Given the description of an element on the screen output the (x, y) to click on. 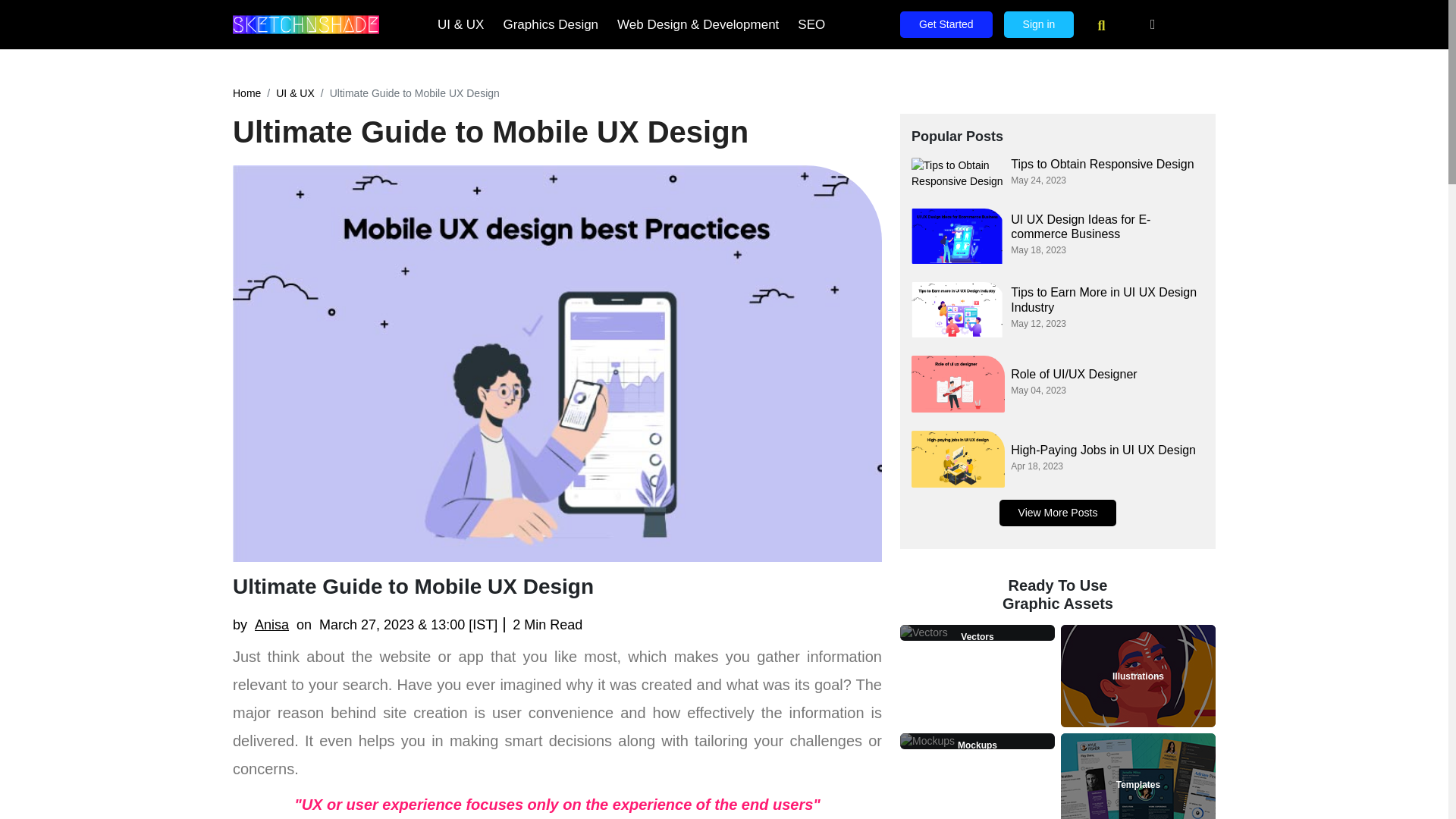
IIlustrations (1138, 676)
Tips to Earn More in UI UX Design Industry (957, 309)
UI UX Design Ideas for E-commerce Business (1107, 226)
UI UX Design Ideas for E-commerce Business (957, 235)
Mockups (976, 745)
Get Started (945, 24)
View More Posts (1057, 512)
High-Paying Jobs in UI UX Design (957, 458)
SEO (811, 25)
High-Paying Jobs in UI UX Design (1107, 450)
Sign in (1039, 24)
Tips to Obtain Responsive Design (957, 173)
Anisa (272, 624)
Tips to Earn More in UI UX Design Industry (1107, 299)
Home (246, 92)
